Given the description of an element on the screen output the (x, y) to click on. 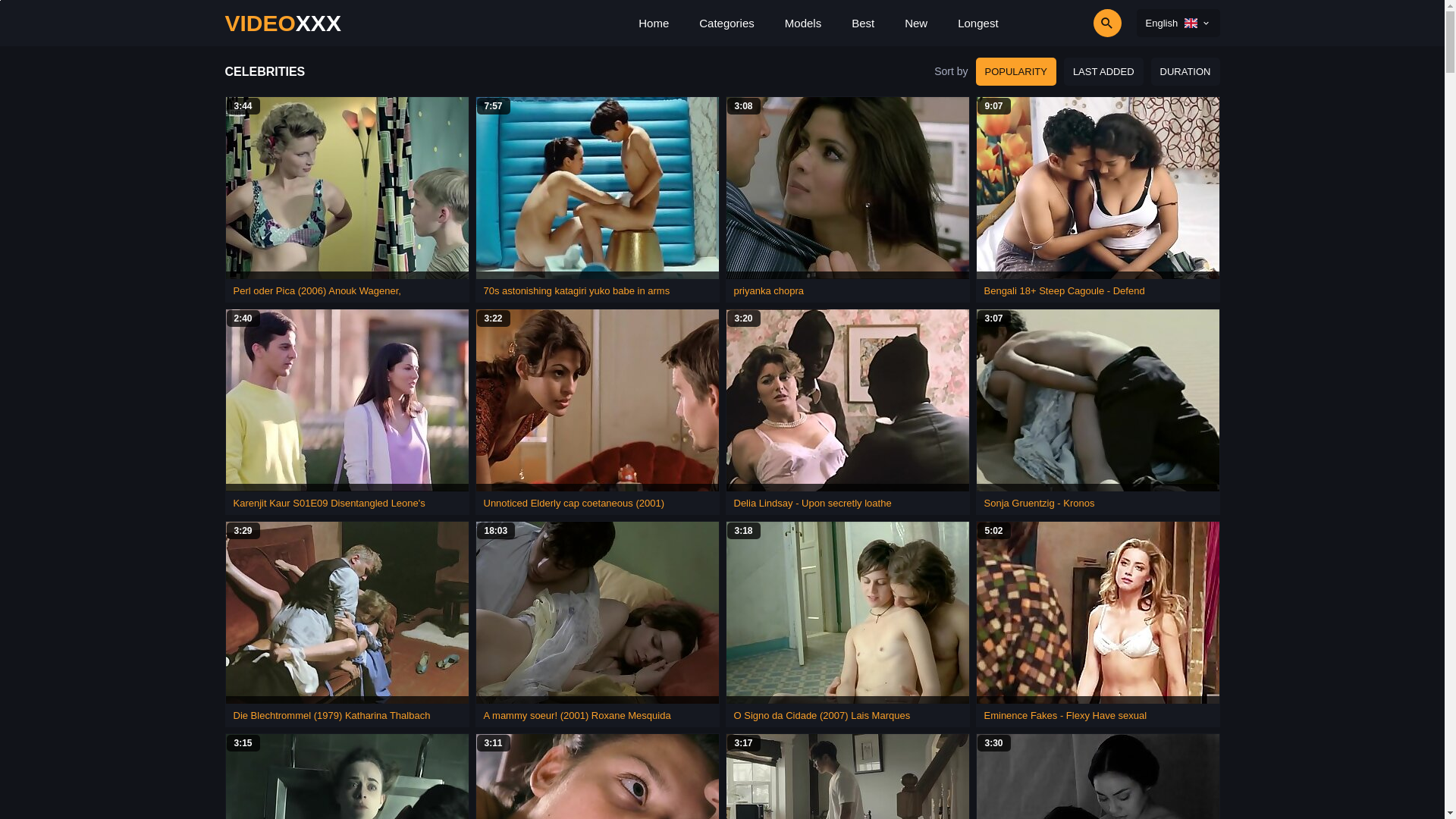
Search Element type: text (1064, 23)
Karenjit Kaur S01E09 Disentangled Leone's Element type: text (329, 502)
Delia Lindsay - Upon secretly loathe Element type: text (812, 502)
Categories Element type: text (726, 22)
New Element type: text (915, 22)
Bengali 18+ Steep Cagoule - Defend Element type: text (1064, 290)
priyanka chopra Element type: text (769, 290)
Unnoticed Elderly cap coetaneous (2001) Element type: text (573, 502)
Best Element type: text (862, 22)
70s astonishing katagiri yuko babe in arms Element type: text (576, 290)
Longest Element type: text (977, 22)
Home Element type: text (653, 22)
Die Blechtrommel (1979) Katharina Thalbach Element type: text (331, 715)
A mammy soeur! (2001) Roxane Mesquida Element type: text (577, 715)
Models Element type: text (802, 22)
VIDEOXXX Element type: text (282, 23)
Sonja Gruentzig - Kronos Element type: text (1039, 502)
O Signo da Cidade (2007) Lais Marques Element type: text (822, 715)
LAST ADDED Element type: text (1103, 71)
POPULARITY Element type: text (1015, 71)
DURATION Element type: text (1185, 71)
Eminence Fakes - Flexy Have sexual Element type: text (1065, 715)
Perl oder Pica (2006) Anouk Wagener, Element type: text (317, 290)
English Element type: text (1178, 23)
